Given the description of an element on the screen output the (x, y) to click on. 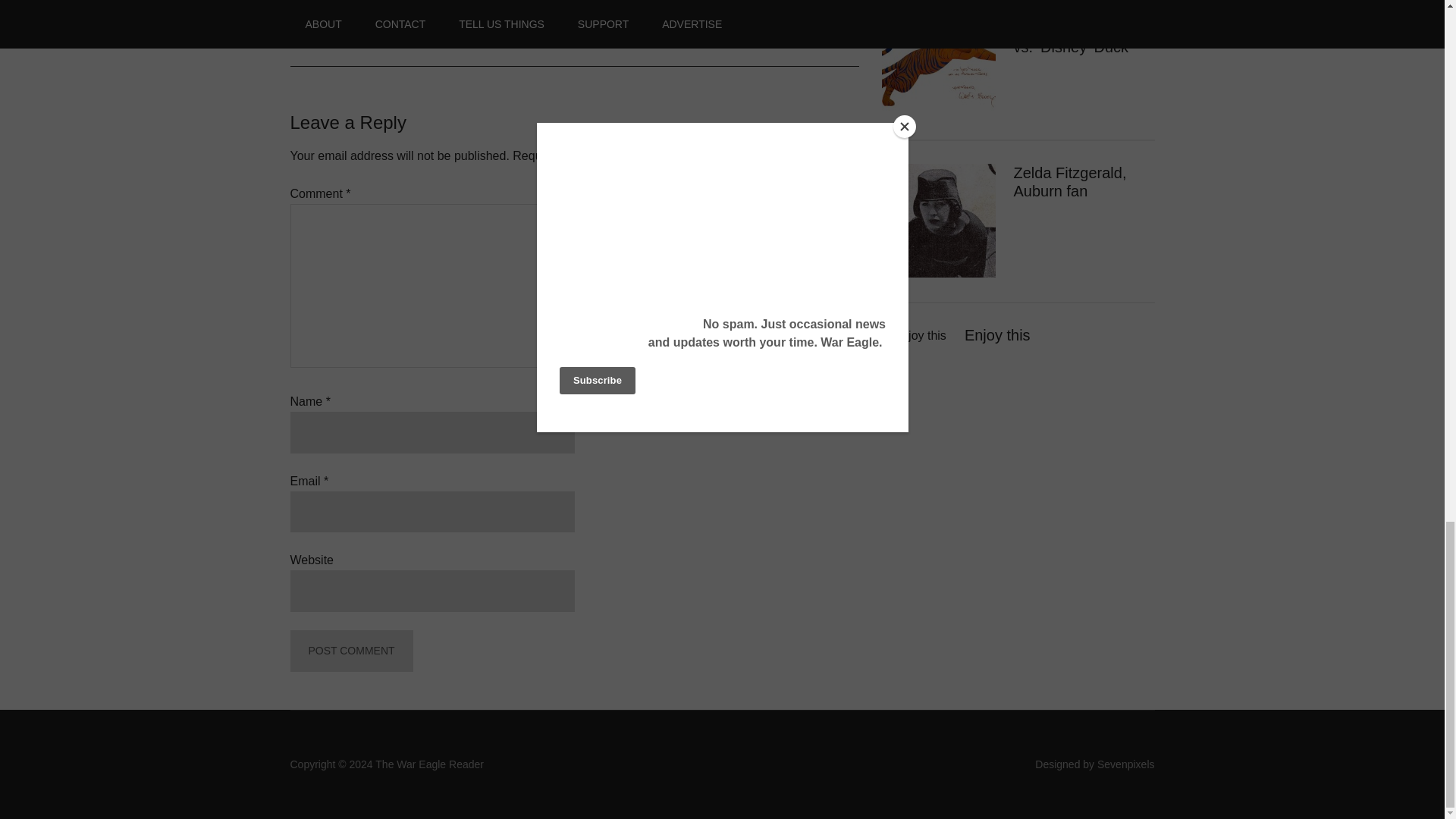
Post Comment (350, 650)
